Given the description of an element on the screen output the (x, y) to click on. 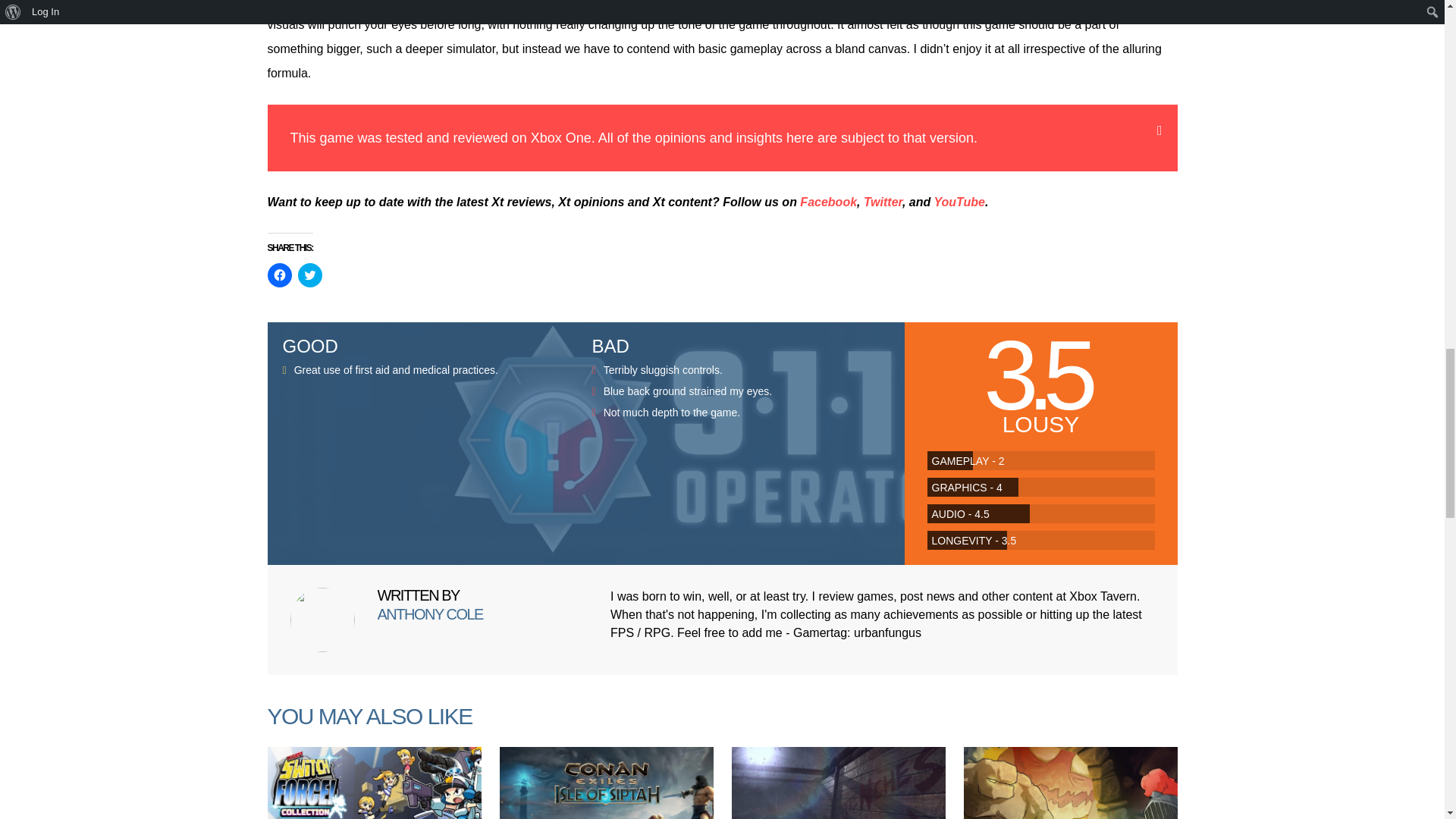
Mighty Switch Force Collection Review (373, 782)
Click to share on Facebook (278, 274)
Devious Dungeon Review (1069, 782)
Trenches Review (837, 782)
Click to share on Twitter (309, 274)
Conan Exiles: Isle of Siptah Review (606, 782)
